Given the description of an element on the screen output the (x, y) to click on. 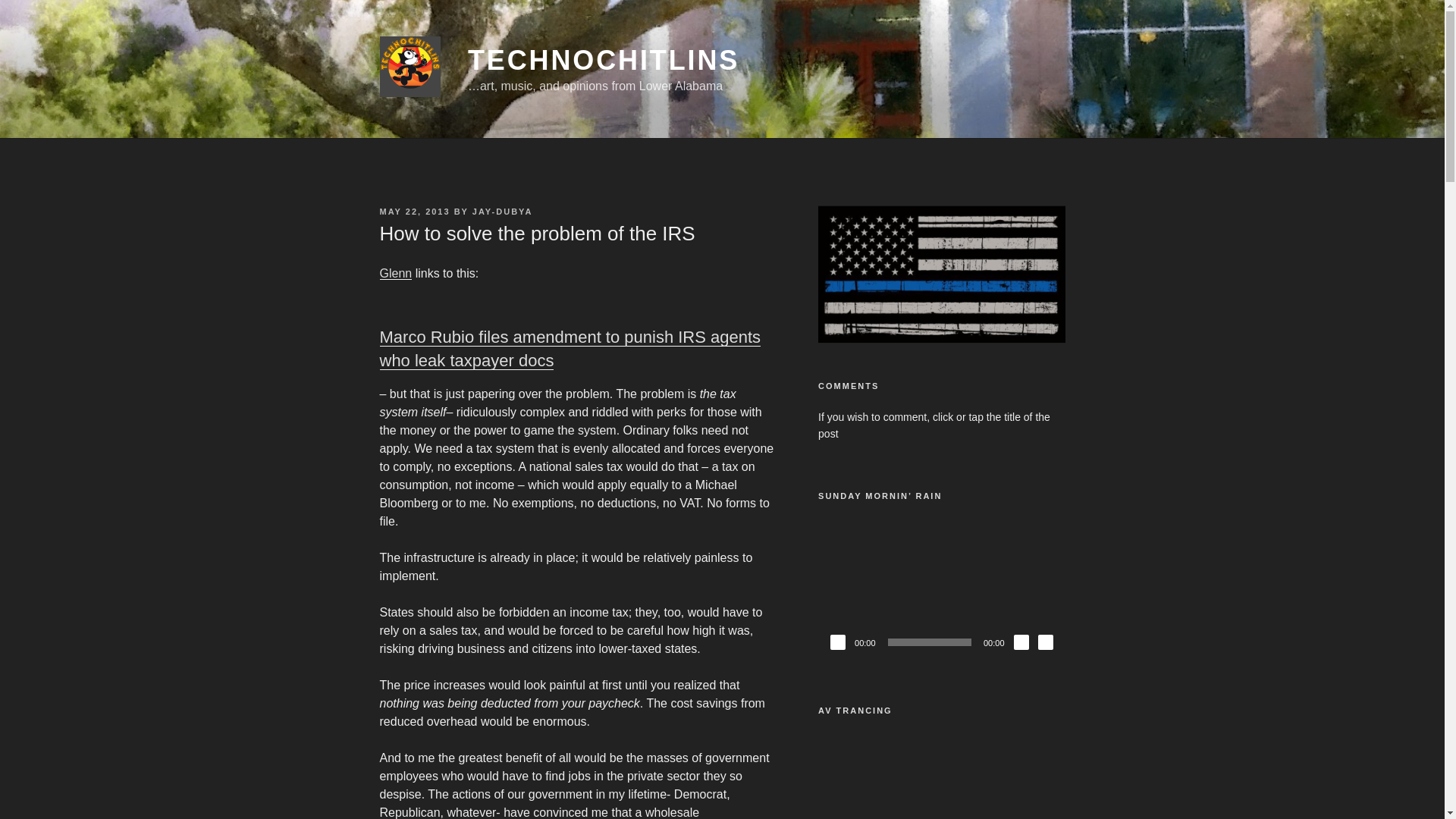
JAY-DUBYA (501, 211)
Mute (1020, 642)
Fullscreen (1044, 642)
Glenn (395, 273)
TECHNOCHITLINS (603, 60)
MAY 22, 2013 (413, 211)
Play (837, 642)
